Given the description of an element on the screen output the (x, y) to click on. 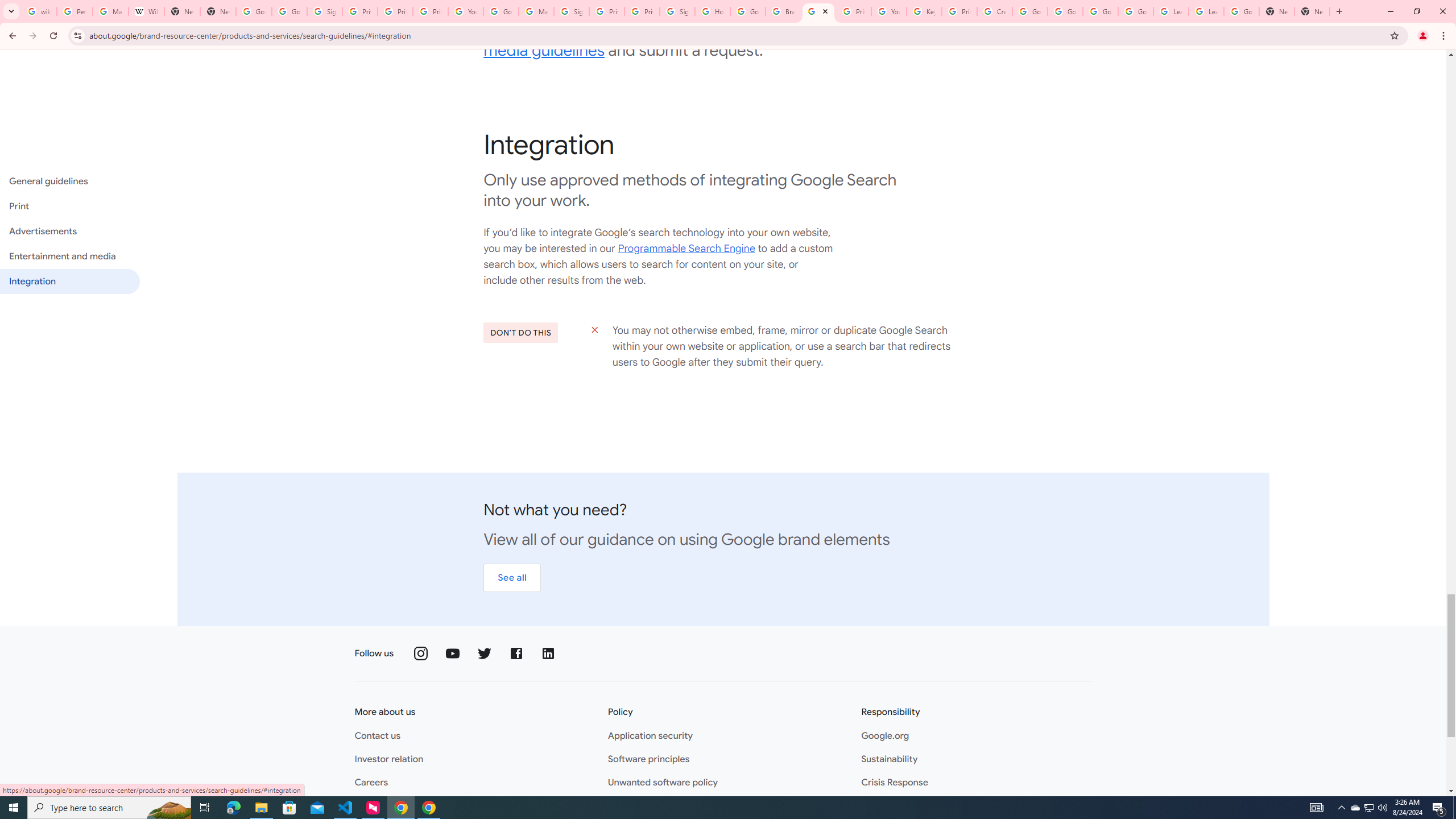
Google.org (885, 735)
YouTube (888, 11)
Brand Resource Center (783, 11)
Google Account Help (1029, 11)
Unwanted software policy (662, 782)
Advertisements (69, 231)
Follow us on Linkedin (548, 653)
Contact us (376, 735)
General guidelines (69, 181)
Follow us on Instagram (421, 653)
